Given the description of an element on the screen output the (x, y) to click on. 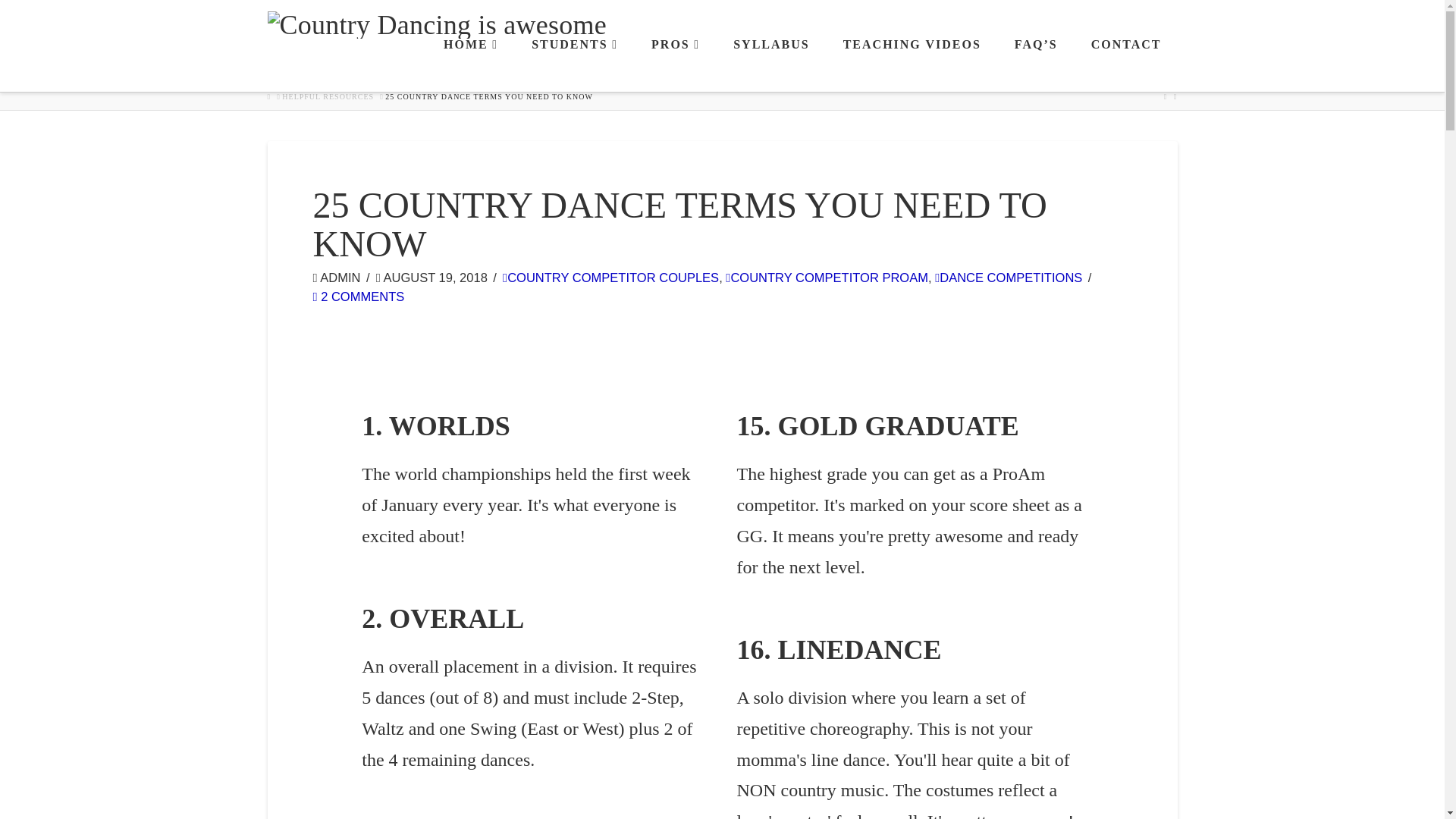
PROS (674, 64)
25 COUNTRY DANCE TERMS YOU NEED TO KNOW (488, 96)
CONTACT (1125, 64)
TEACHING VIDEOS (911, 64)
HELPFUL RESOURCES (328, 96)
COUNTRY COMPETITOR COUPLES (610, 278)
You Are Here (488, 96)
HOME (469, 64)
STUDENTS (573, 64)
SYLLABUS (770, 64)
